Given the description of an element on the screen output the (x, y) to click on. 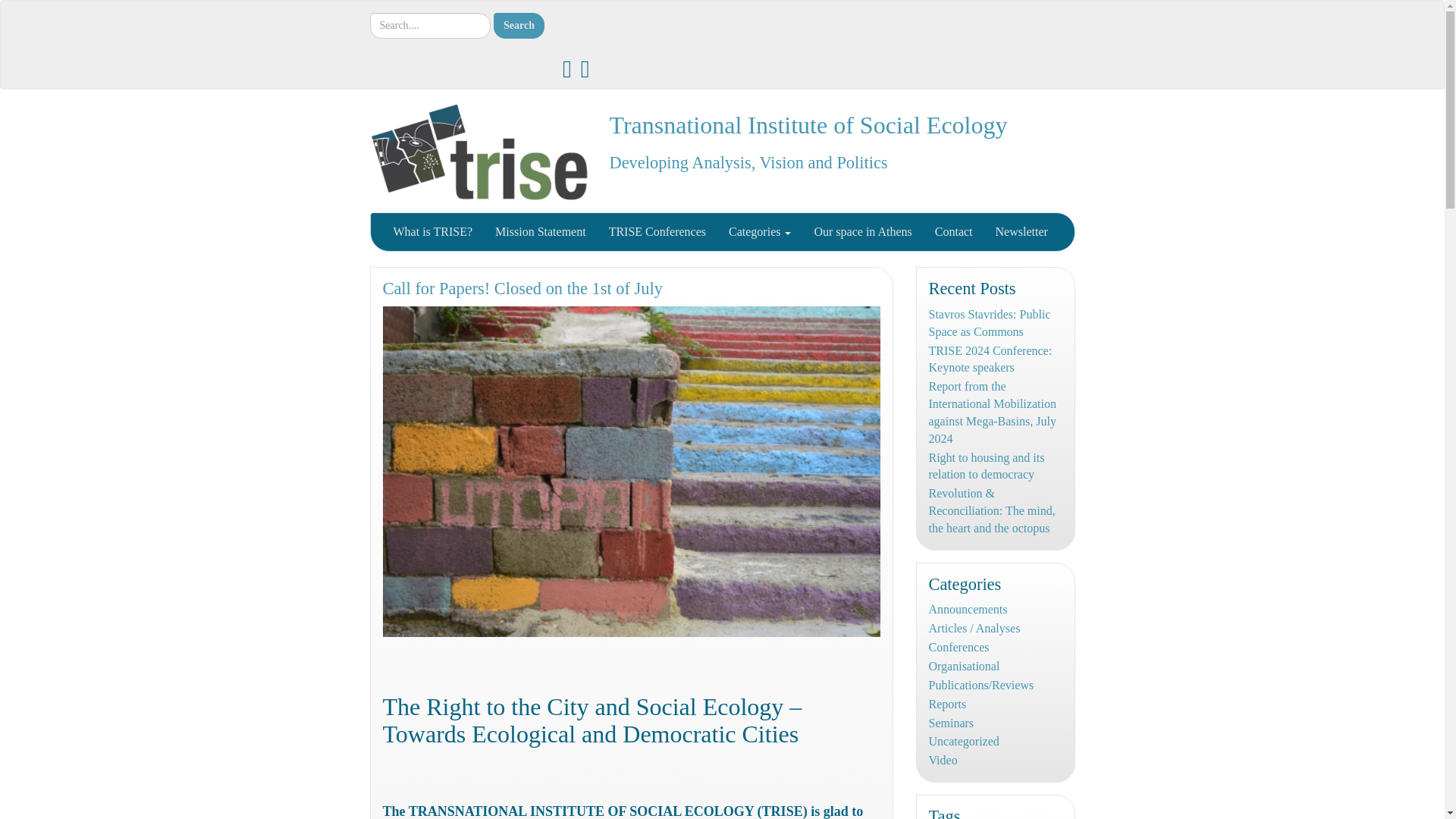
Mission Statement (539, 231)
What is TRISE? (432, 231)
TRISE Conferences (656, 231)
Search (518, 25)
Mission Statement (539, 231)
Categories (759, 231)
Call for Papers! Closed on the 1st of July (521, 288)
Our space in Athens (862, 231)
Transnational Institute of Social Ecology (808, 124)
TRISE Conferences (656, 231)
